Given the description of an element on the screen output the (x, y) to click on. 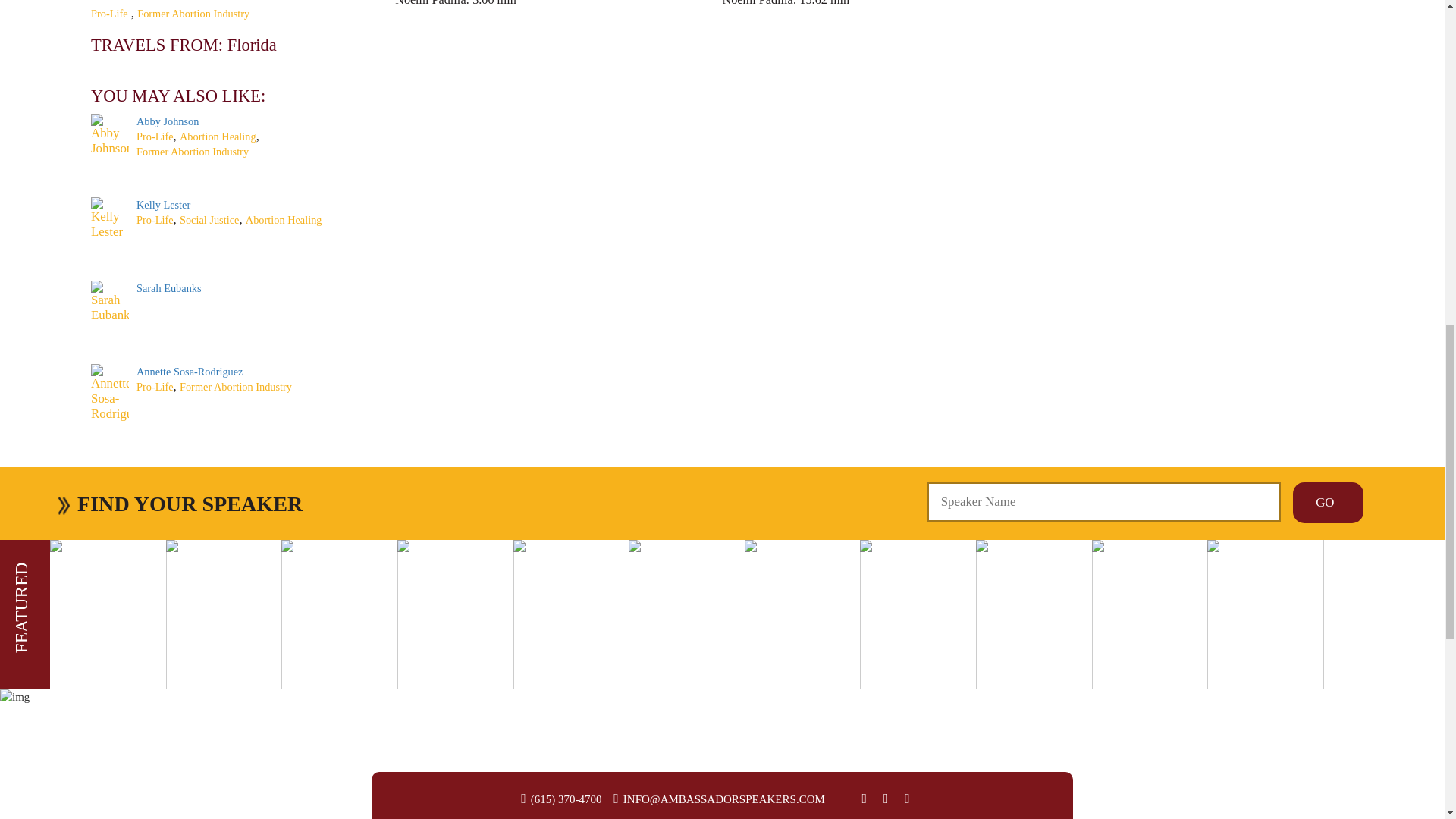
Annette Sosa-Rodriguez (189, 371)
GO (1327, 502)
Former Abortion Industry (235, 386)
FEATURED (56, 572)
Pro-Life (154, 386)
Abby Johnson (167, 121)
Pro-Life (154, 219)
Abortion Healing (283, 219)
Former Abortion Industry (192, 13)
Pro-Life (109, 13)
Abortion Healing (217, 136)
Sarah Eubanks (169, 287)
Kelly Lester (163, 204)
Social Justice (208, 219)
Pro-Life (154, 136)
